Given the description of an element on the screen output the (x, y) to click on. 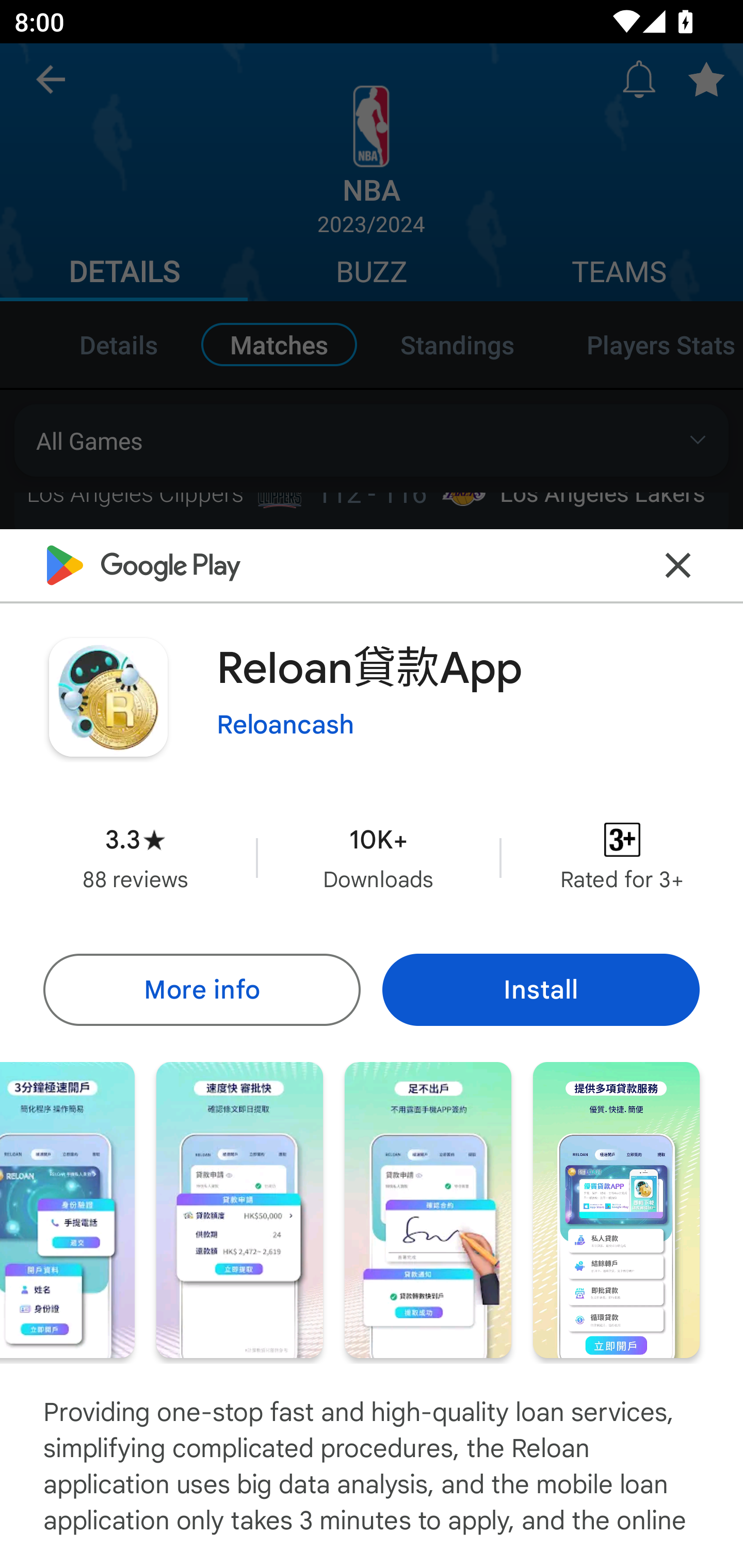
Close (677, 565)
Image of app or game icon for Reloan貸款App (108, 696)
Reloancash (284, 724)
More info (201, 989)
Install (540, 989)
Screenshot "2" of "5" (67, 1209)
Screenshot "3" of "5" (239, 1209)
Screenshot "4" of "5" (427, 1209)
Screenshot "5" of "5" (615, 1209)
